Given the description of an element on the screen output the (x, y) to click on. 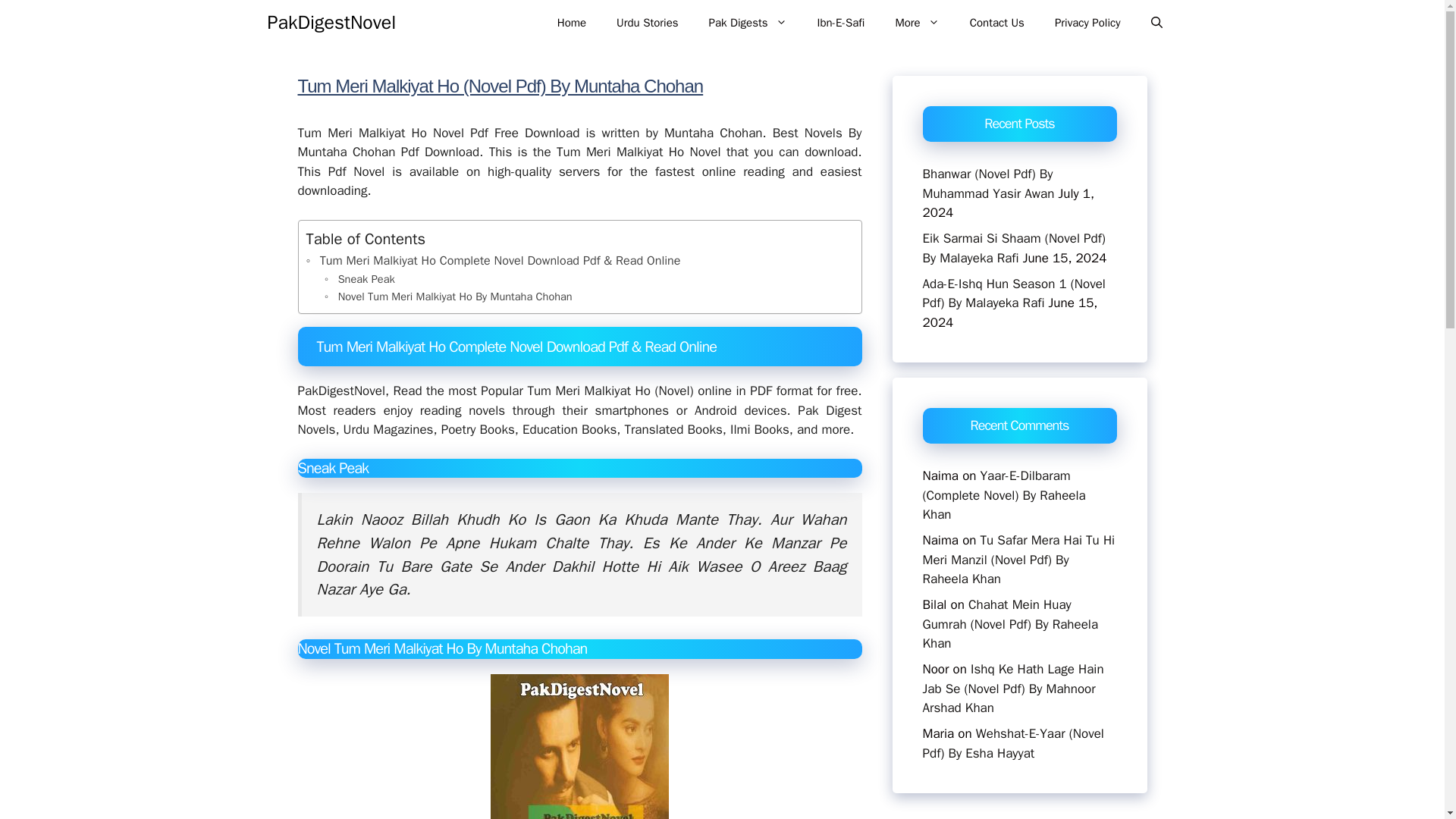
Pak Digests (748, 22)
Urdu Stories (647, 22)
Home (571, 22)
Sneak Peak (359, 279)
Novel Tum Meri Malkiyat Ho By Muntaha Chohan (448, 296)
PakDigestNovel (331, 22)
